Given the description of an element on the screen output the (x, y) to click on. 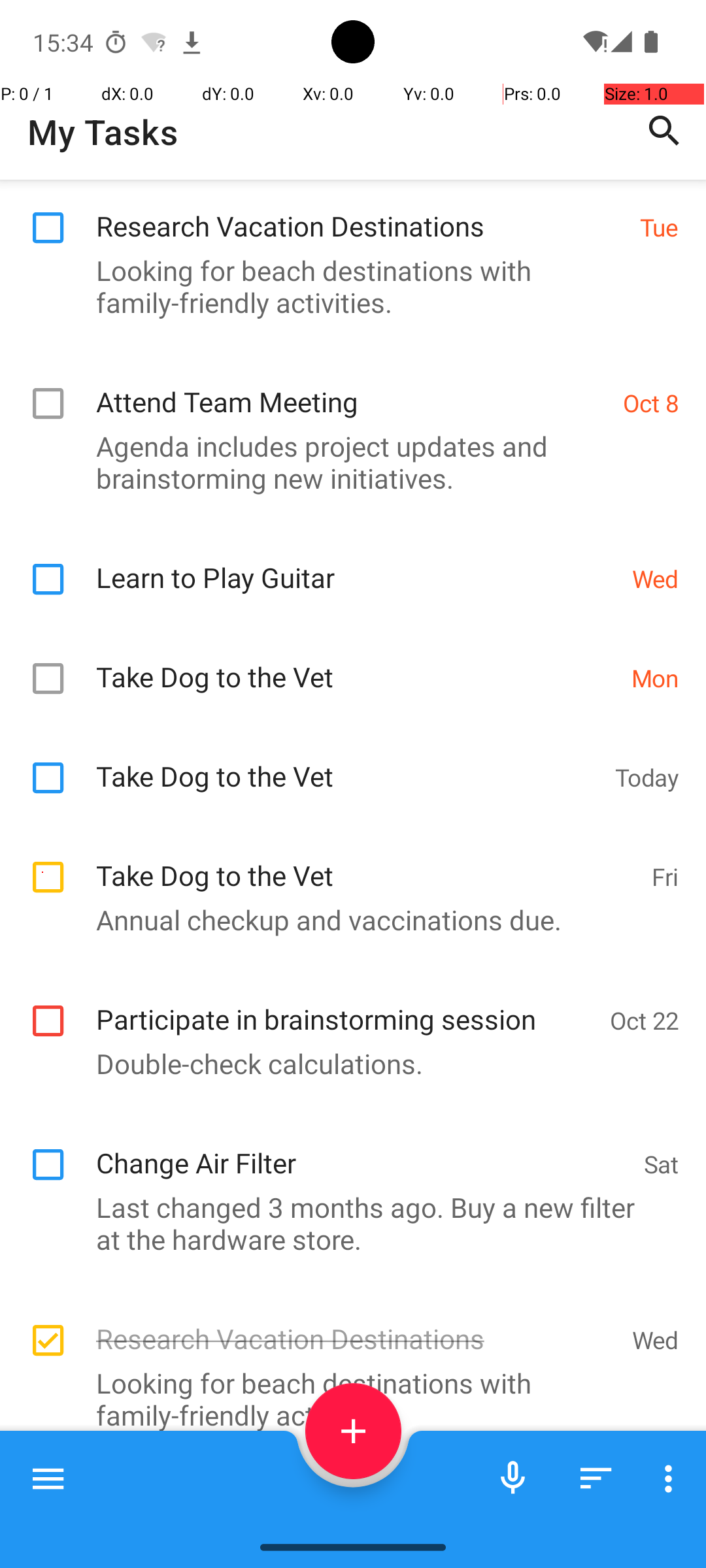
Participate in brainstorming session Element type: android.widget.TextView (346, 1004)
Double-check calculations. Element type: android.widget.TextView (346, 1062)
